Given the description of an element on the screen output the (x, y) to click on. 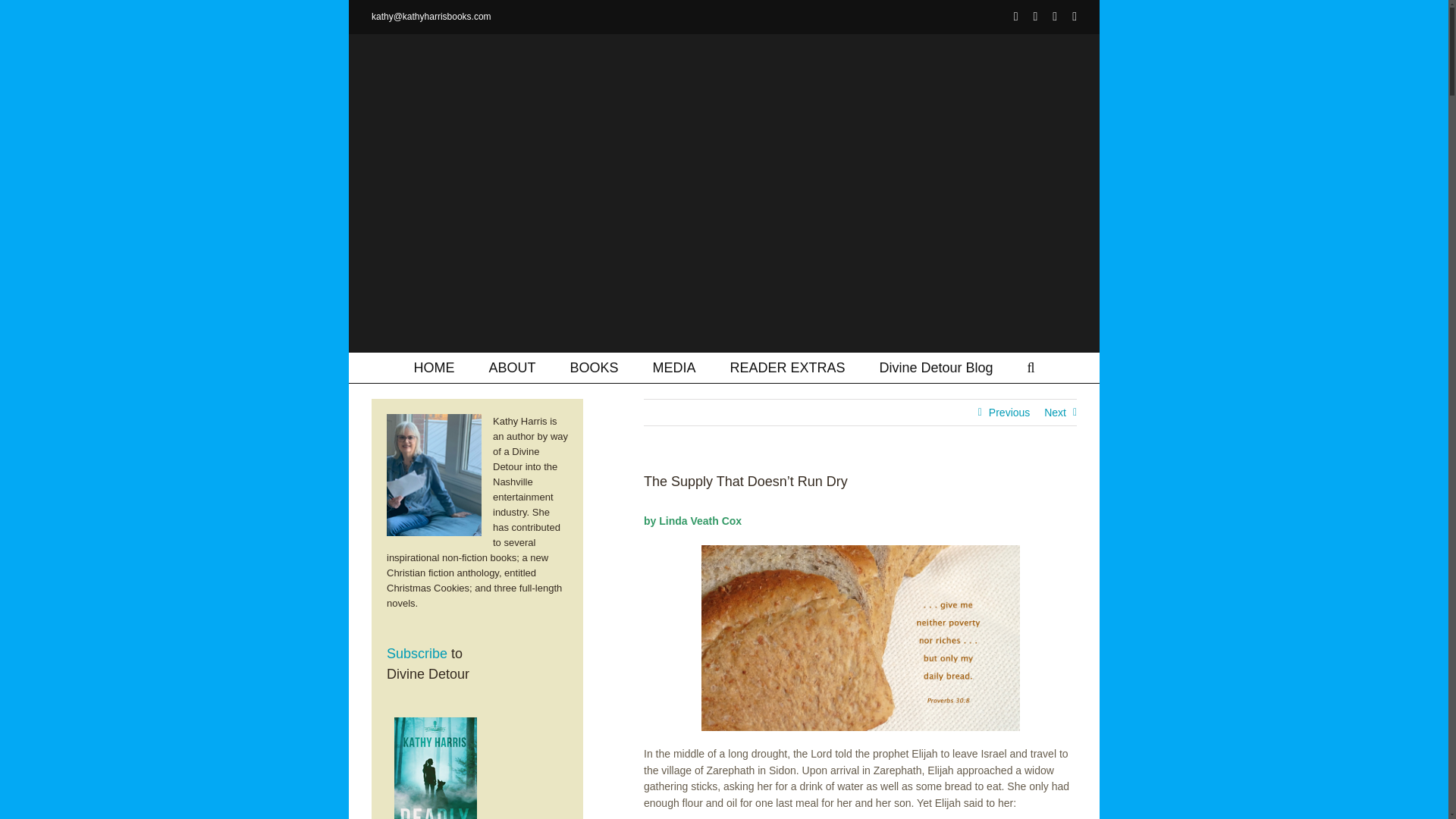
Facebook (1015, 16)
Twitter (1034, 16)
Previous (1008, 412)
READER EXTRAS (786, 367)
ABOUT (511, 367)
Search (1031, 367)
Next (1054, 412)
MEDIA (673, 367)
Pinterest (1074, 16)
BOOKS (593, 367)
Subscribe (416, 653)
Instagram (1054, 16)
HOME (433, 367)
Divine Detour Blog (935, 367)
